Given the description of an element on the screen output the (x, y) to click on. 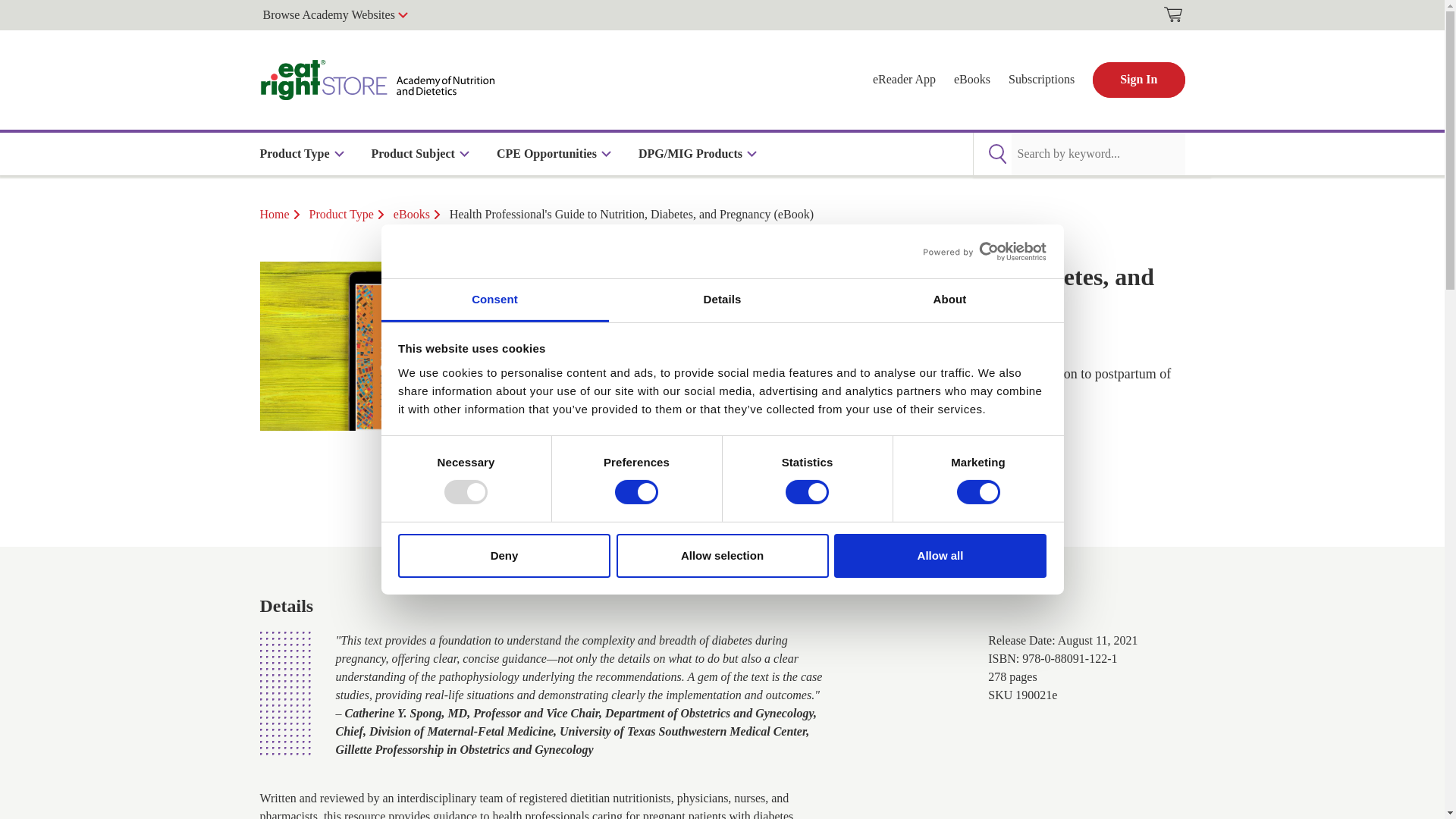
Details (721, 300)
About (948, 300)
1 (617, 483)
Add to Cart (735, 483)
Consent (494, 300)
